Given the description of an element on the screen output the (x, y) to click on. 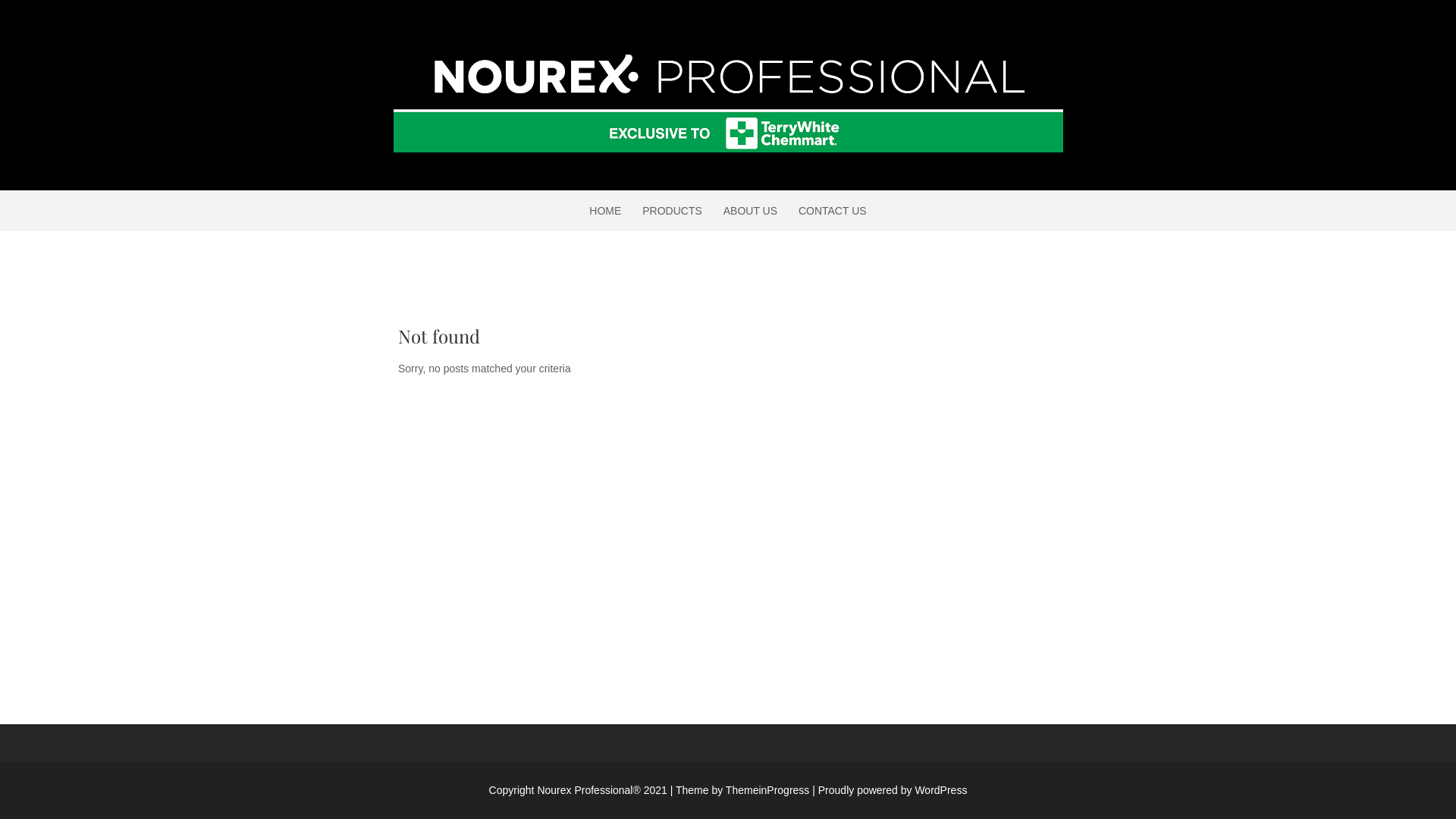
| Proudly powered by WordPress Element type: text (889, 790)
ABOUT US Element type: text (750, 211)
CONTACT US Element type: text (832, 211)
HOME Element type: text (605, 211)
| Theme by ThemeinProgress Element type: text (739, 790)
PRODUCTS Element type: text (672, 211)
